Given the description of an element on the screen output the (x, y) to click on. 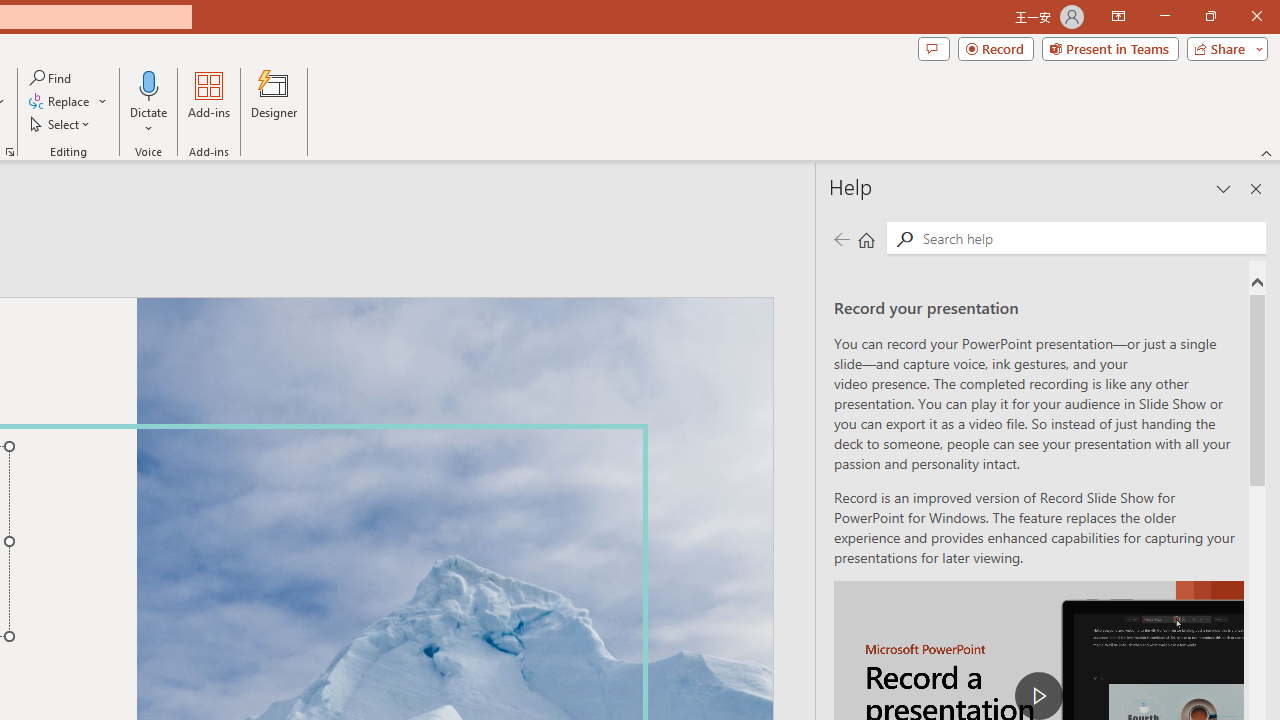
play Record a Presentation (1038, 695)
